Given the description of an element on the screen output the (x, y) to click on. 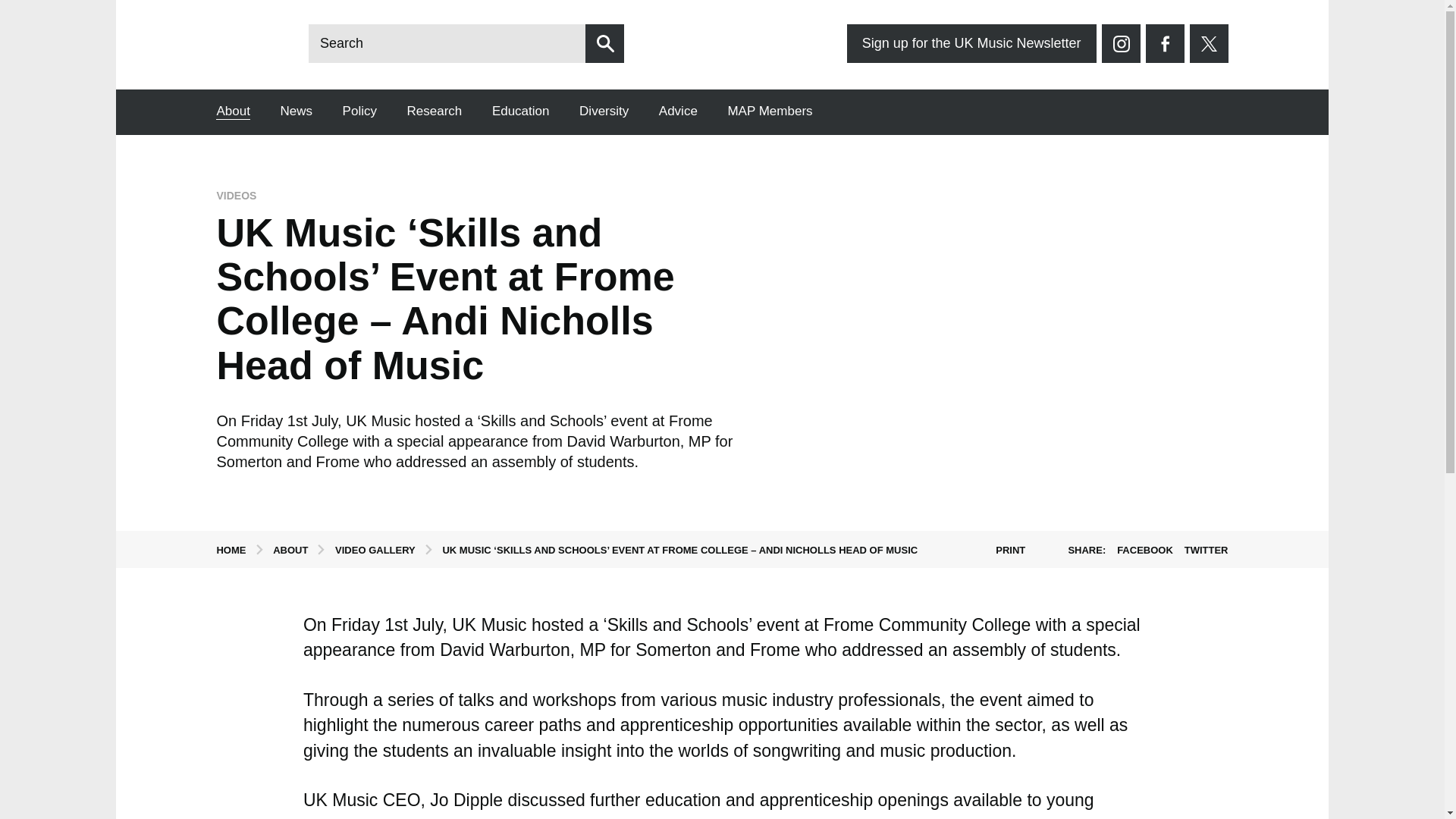
News (297, 111)
Search (604, 43)
About (231, 111)
Sign up for the UK Music Newsletter (971, 43)
Research (435, 111)
Policy (359, 111)
